Given the description of an element on the screen output the (x, y) to click on. 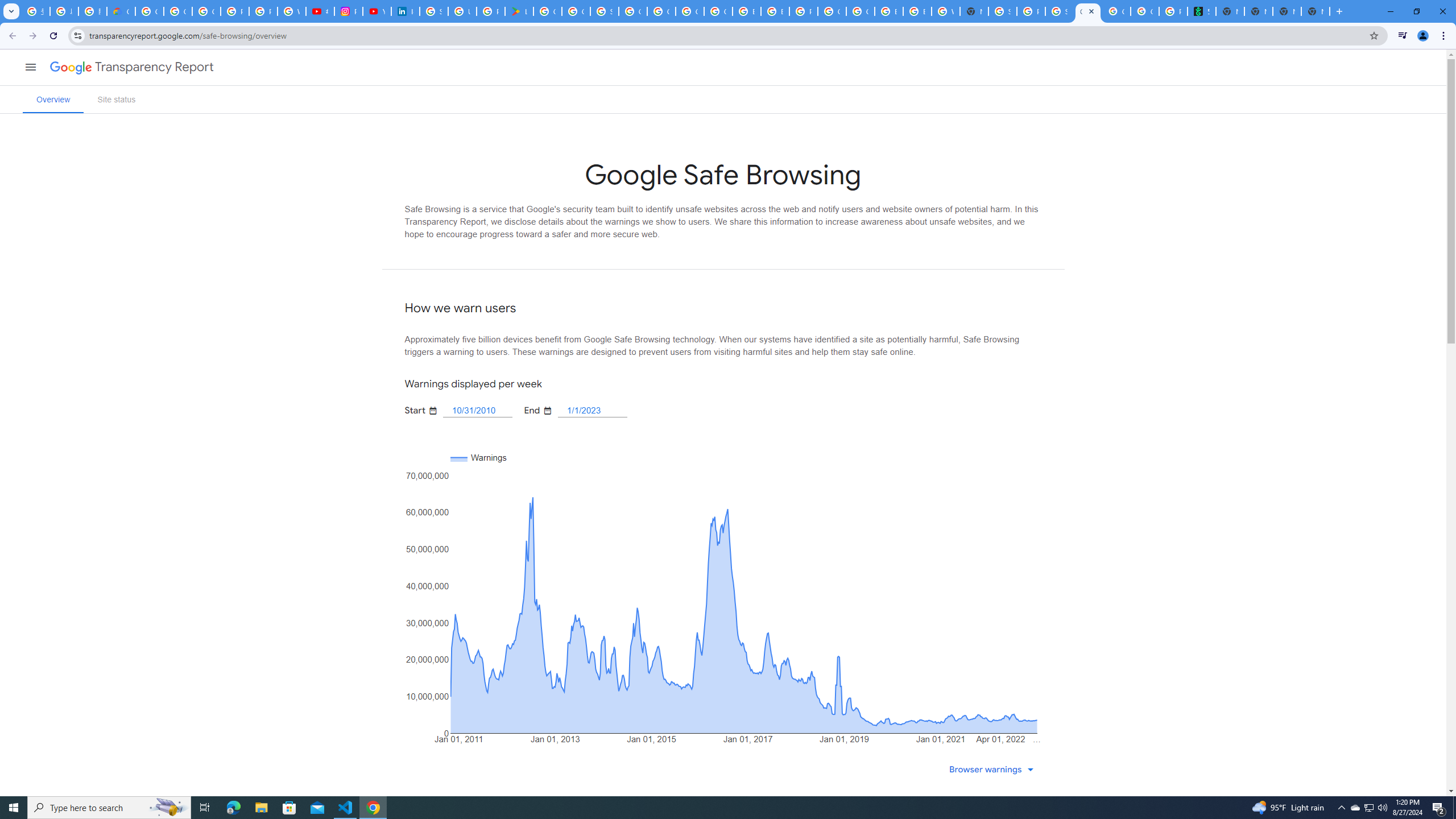
Start (477, 409)
Site status (115, 99)
Browse Chrome as a guest - Computer - Google Chrome Help (888, 11)
#nbabasketballhighlights - YouTube (320, 11)
